Given the description of an element on the screen output the (x, y) to click on. 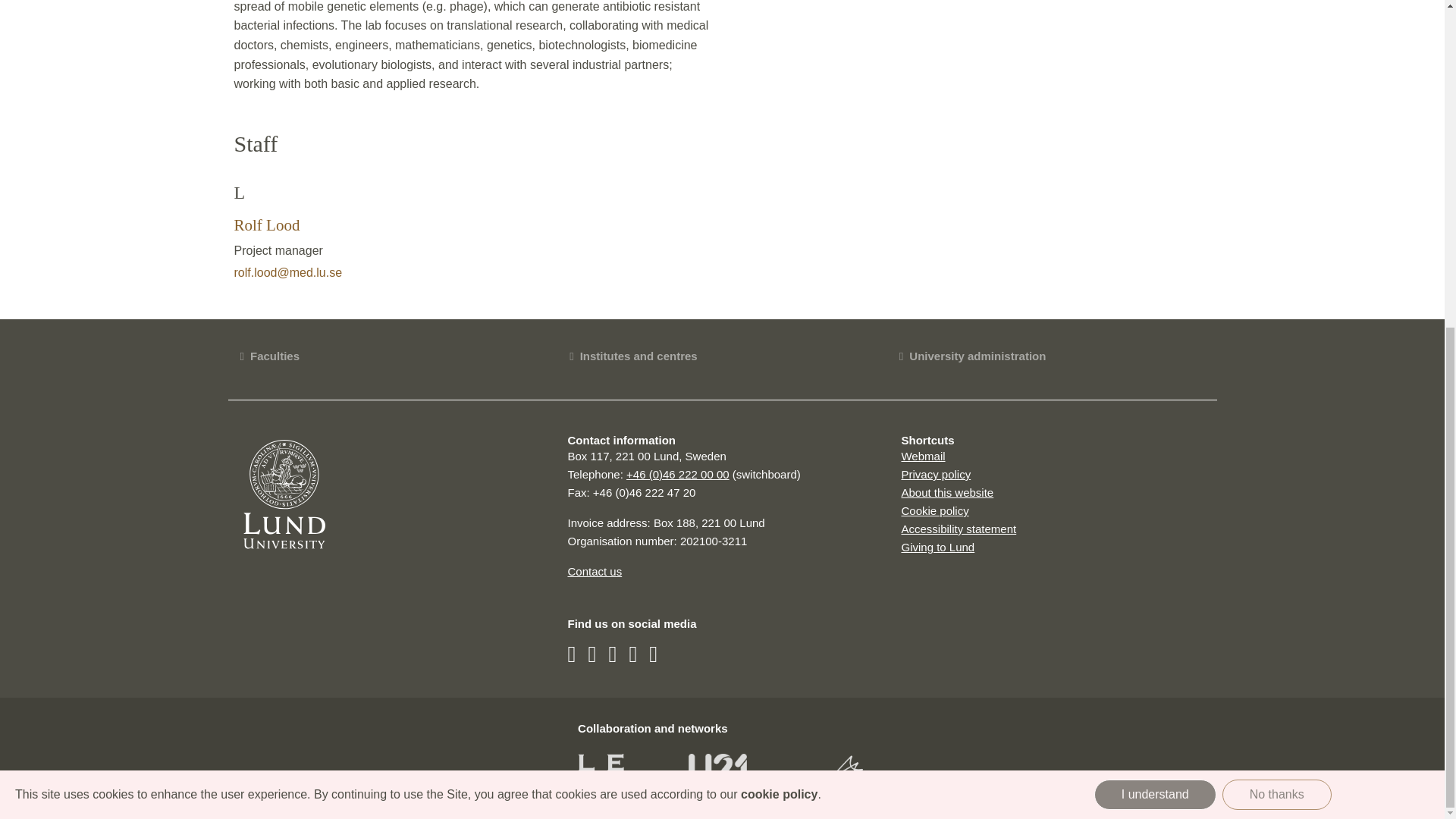
cookie policy (778, 254)
No thanks (1277, 254)
I understand (1154, 254)
